Given the description of an element on the screen output the (x, y) to click on. 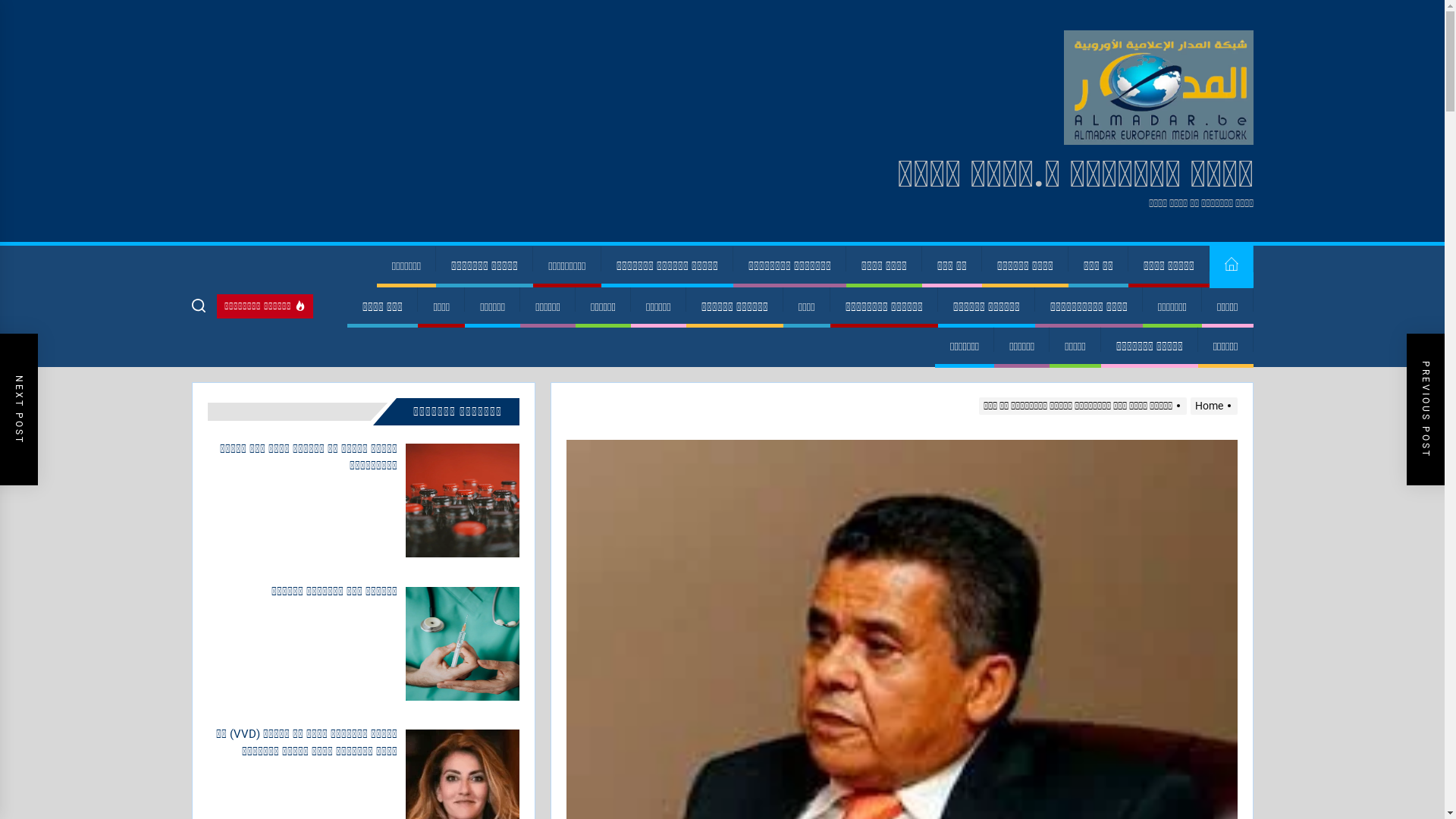
Home Element type: hover (1230, 266)
Home Element type: text (1211, 405)
